Given the description of an element on the screen output the (x, y) to click on. 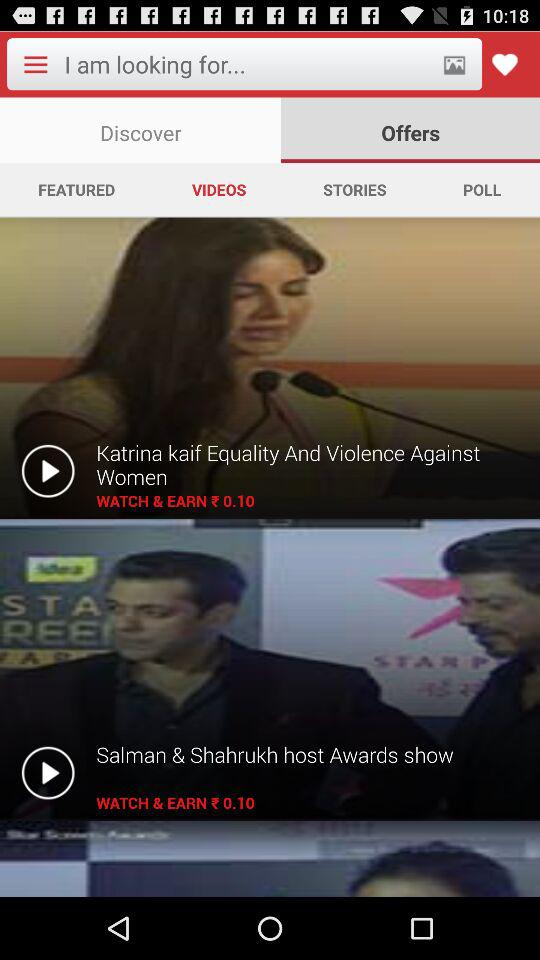
choose stories app (354, 189)
